Given the description of an element on the screen output the (x, y) to click on. 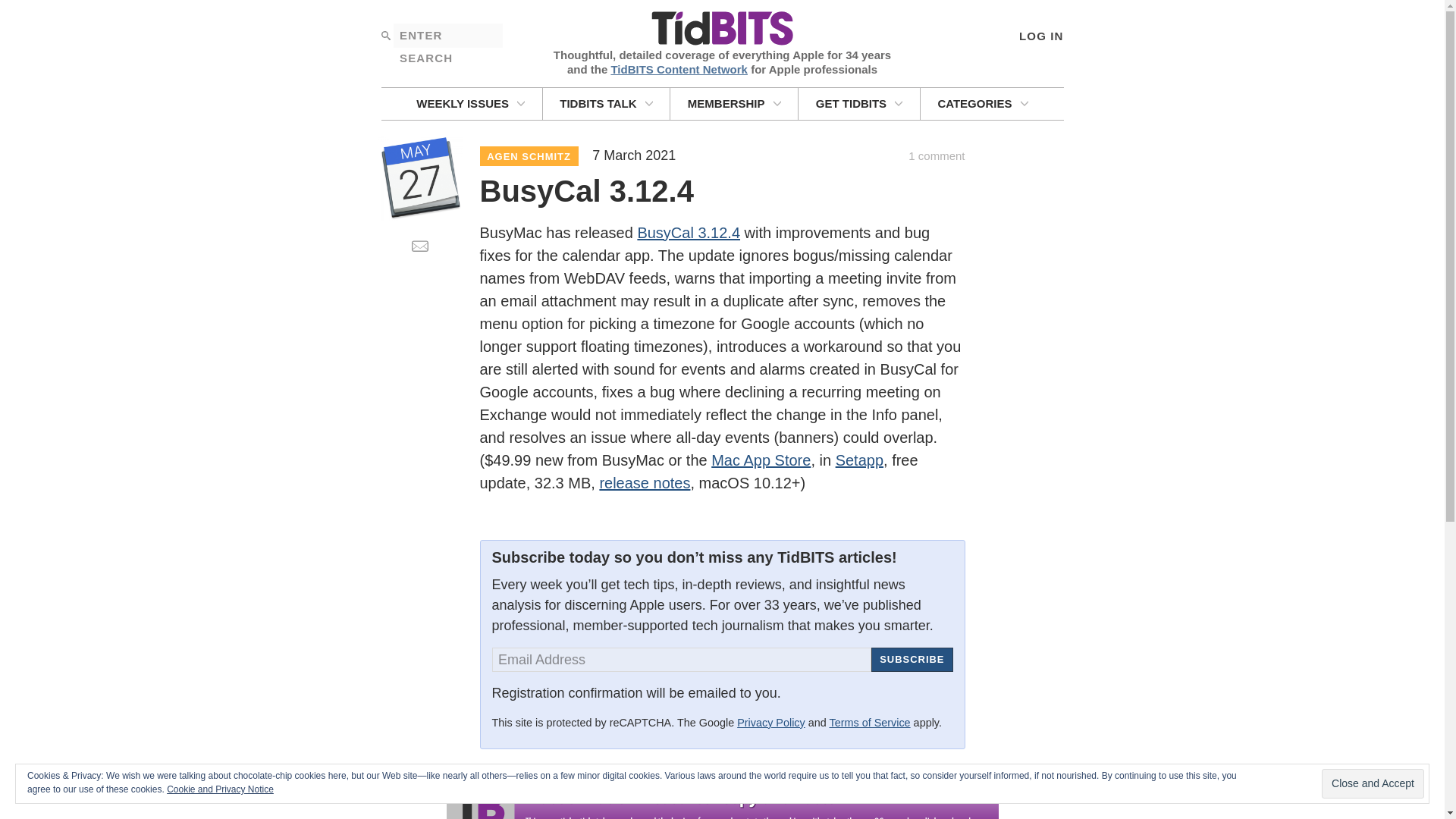
Click to email a link to a friend (419, 246)
GET TIDBITS (858, 103)
CATEGORIES (982, 103)
Close and Accept (1372, 783)
MEMBERSHIP (733, 103)
WEEKLY ISSUES (469, 103)
TidBITS (721, 28)
TIDBITS TALK (606, 103)
TidBITS Content Network (679, 68)
LOG IN (1040, 34)
Search (385, 35)
